Given the description of an element on the screen output the (x, y) to click on. 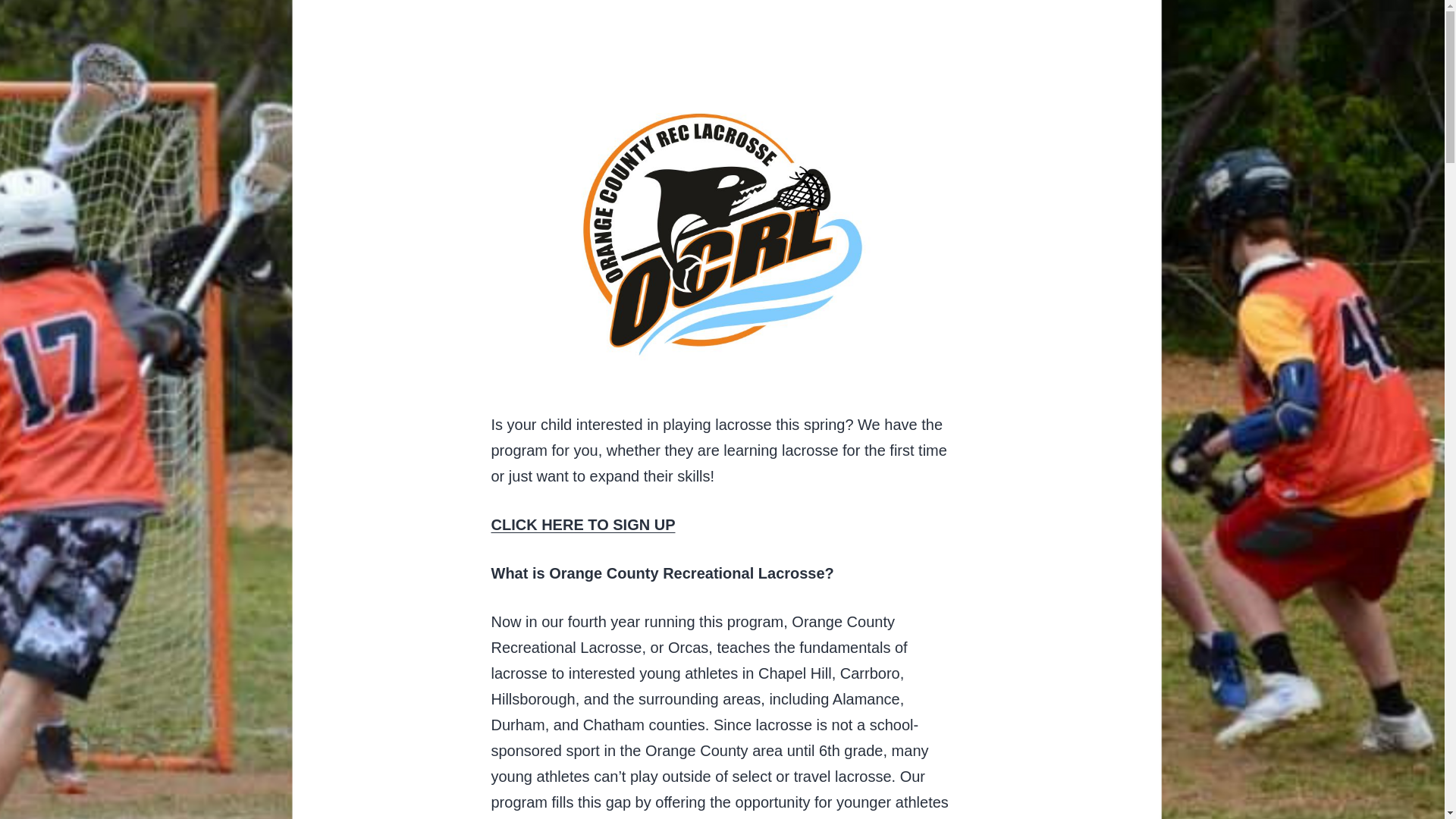
CLICK HERE TO SIGN UP (583, 524)
